Given the description of an element on the screen output the (x, y) to click on. 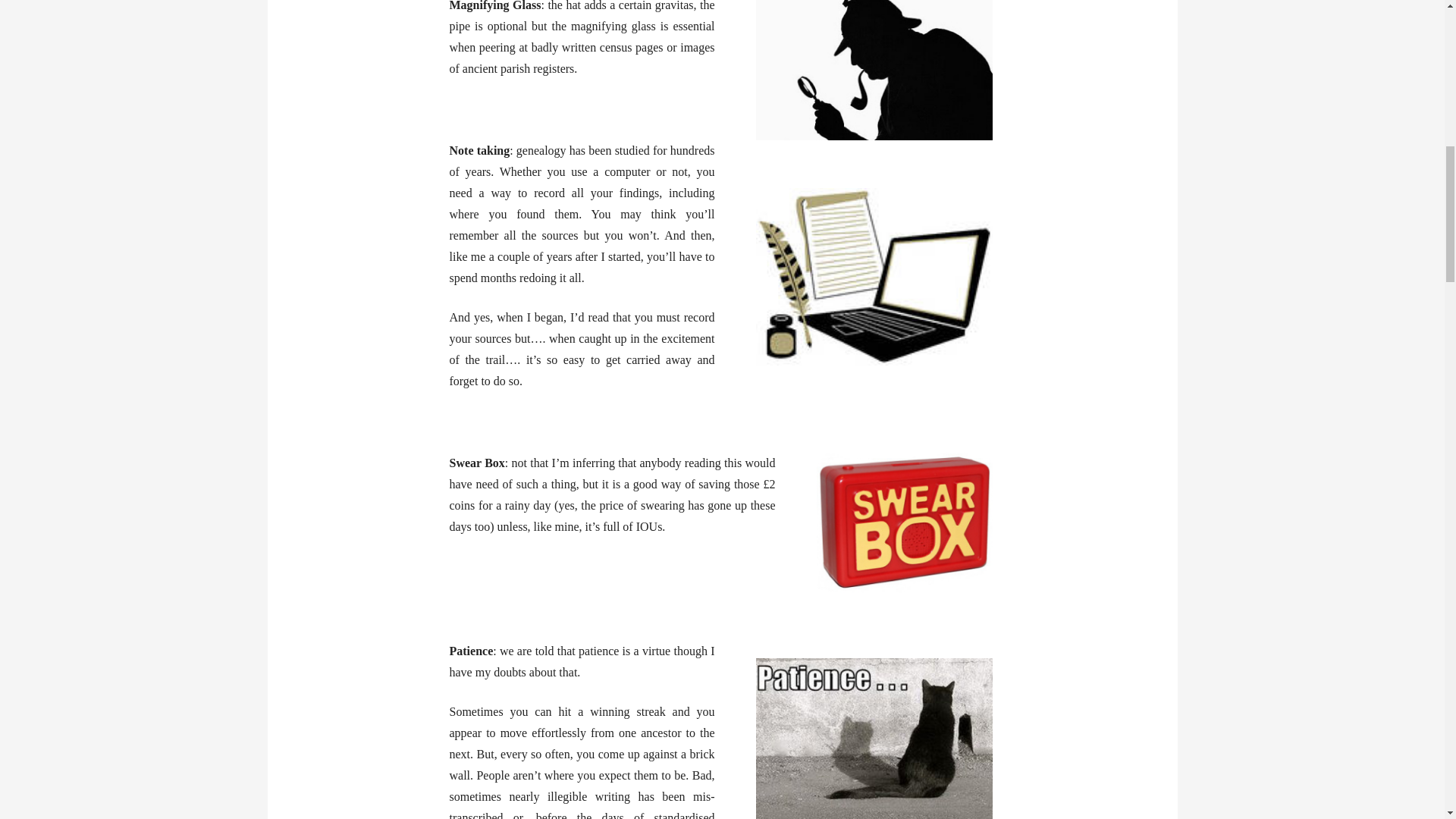
swear-box (903, 522)
patience-is-a-virtue-crop (873, 737)
Sherlock-Holmes-007 (873, 71)
laptop-quill (873, 277)
